Given the description of an element on the screen output the (x, y) to click on. 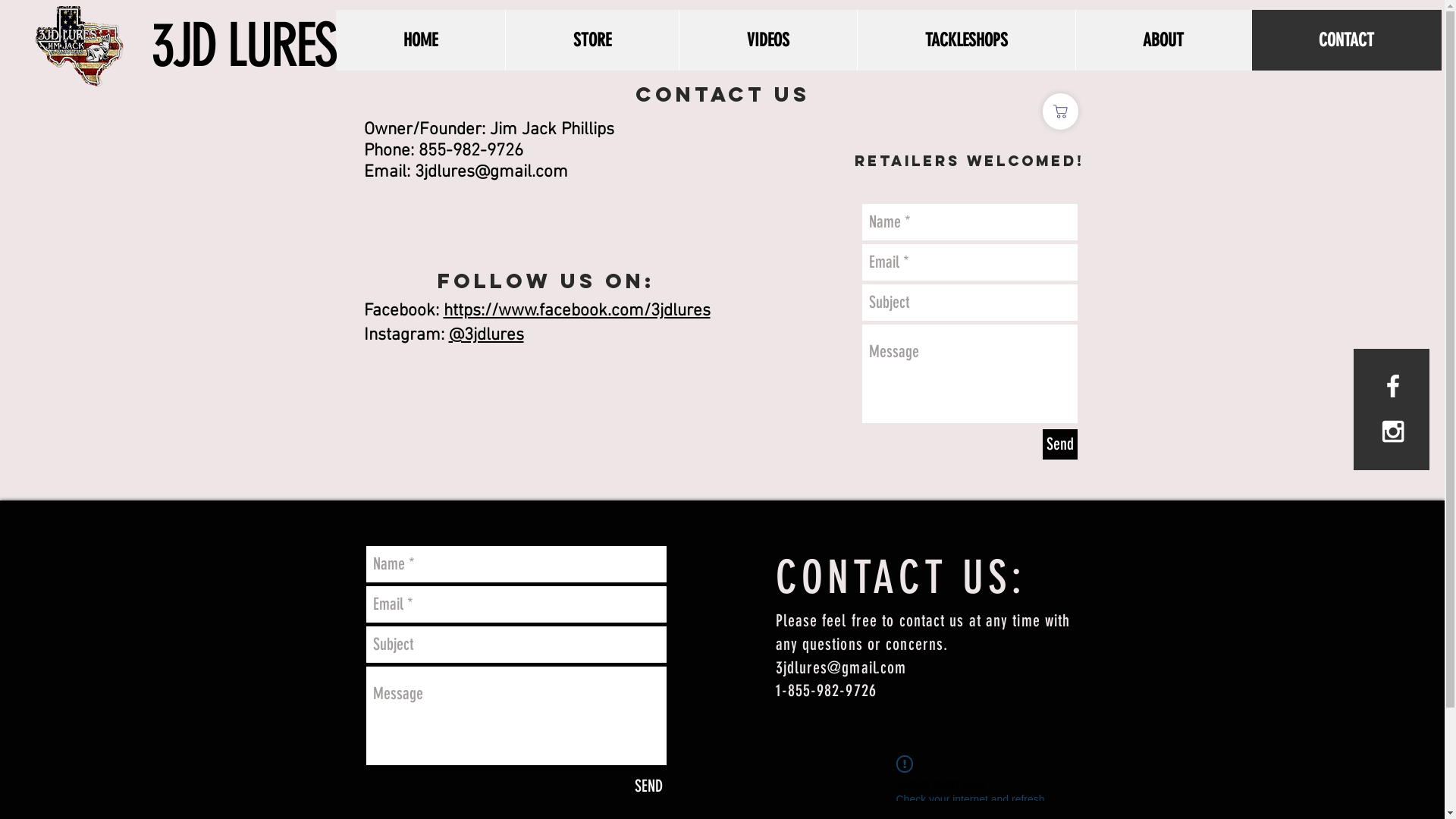
3jdlures@gmail.com Element type: text (840, 667)
TACKLESHOPS Element type: text (965, 39)
https://www.facebook.com/3jdlures Element type: text (575, 310)
VIDEOS Element type: text (766, 39)
ABOUT Element type: text (1163, 39)
STORE Element type: text (591, 39)
SEND Element type: text (648, 786)
3jdlures@gmail.com Element type: text (490, 171)
CONTACT Element type: text (1346, 39)
HOME Element type: text (419, 39)
Send Element type: text (1058, 444)
@3jdlures Element type: text (486, 334)
